Given the description of an element on the screen output the (x, y) to click on. 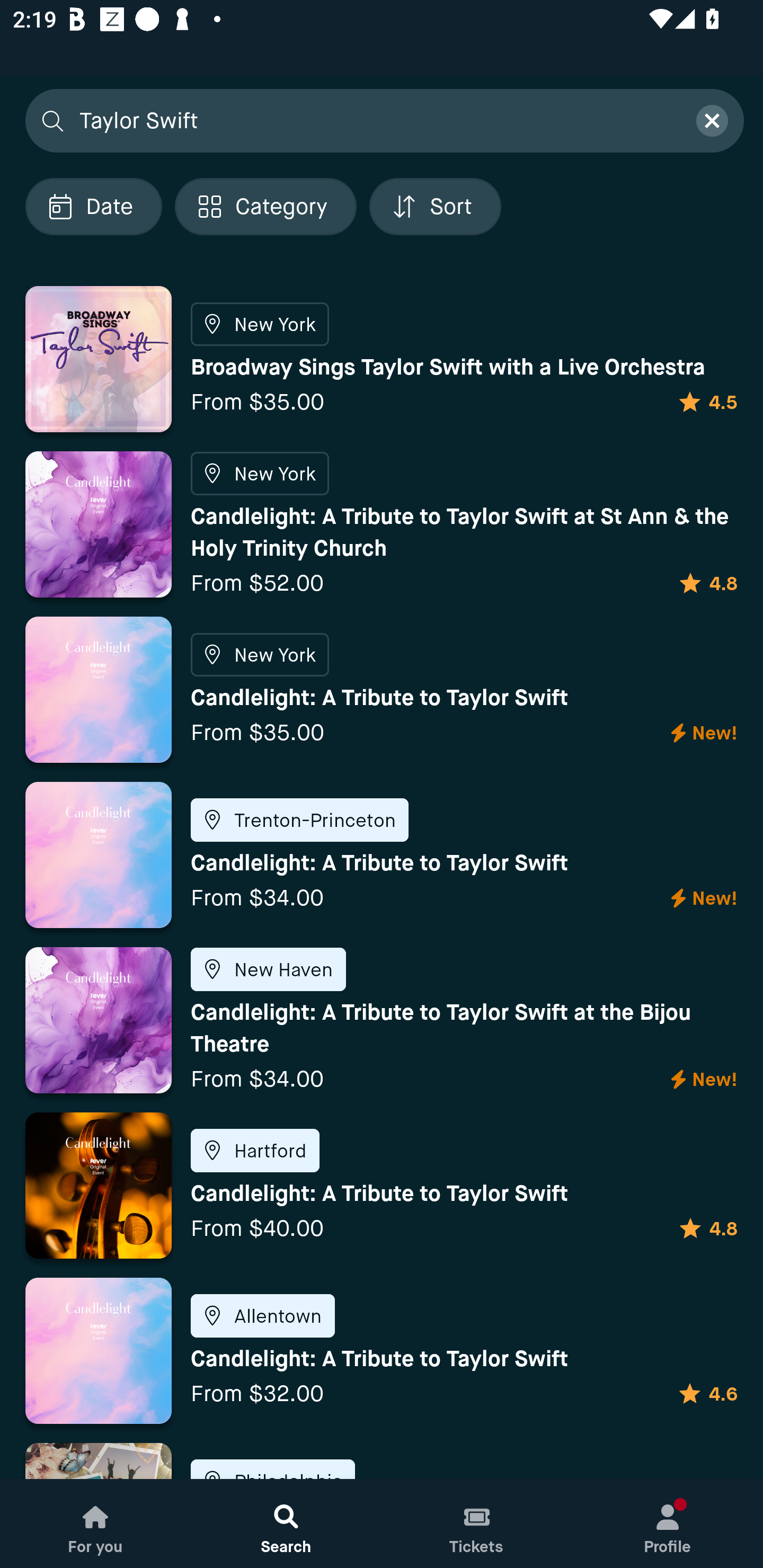
Taylor Swift (376, 120)
Localized description Date (93, 205)
Localized description Category (265, 205)
Localized description Sort (435, 205)
For you (95, 1523)
Tickets (476, 1523)
Profile, New notification Profile (667, 1523)
